Given the description of an element on the screen output the (x, y) to click on. 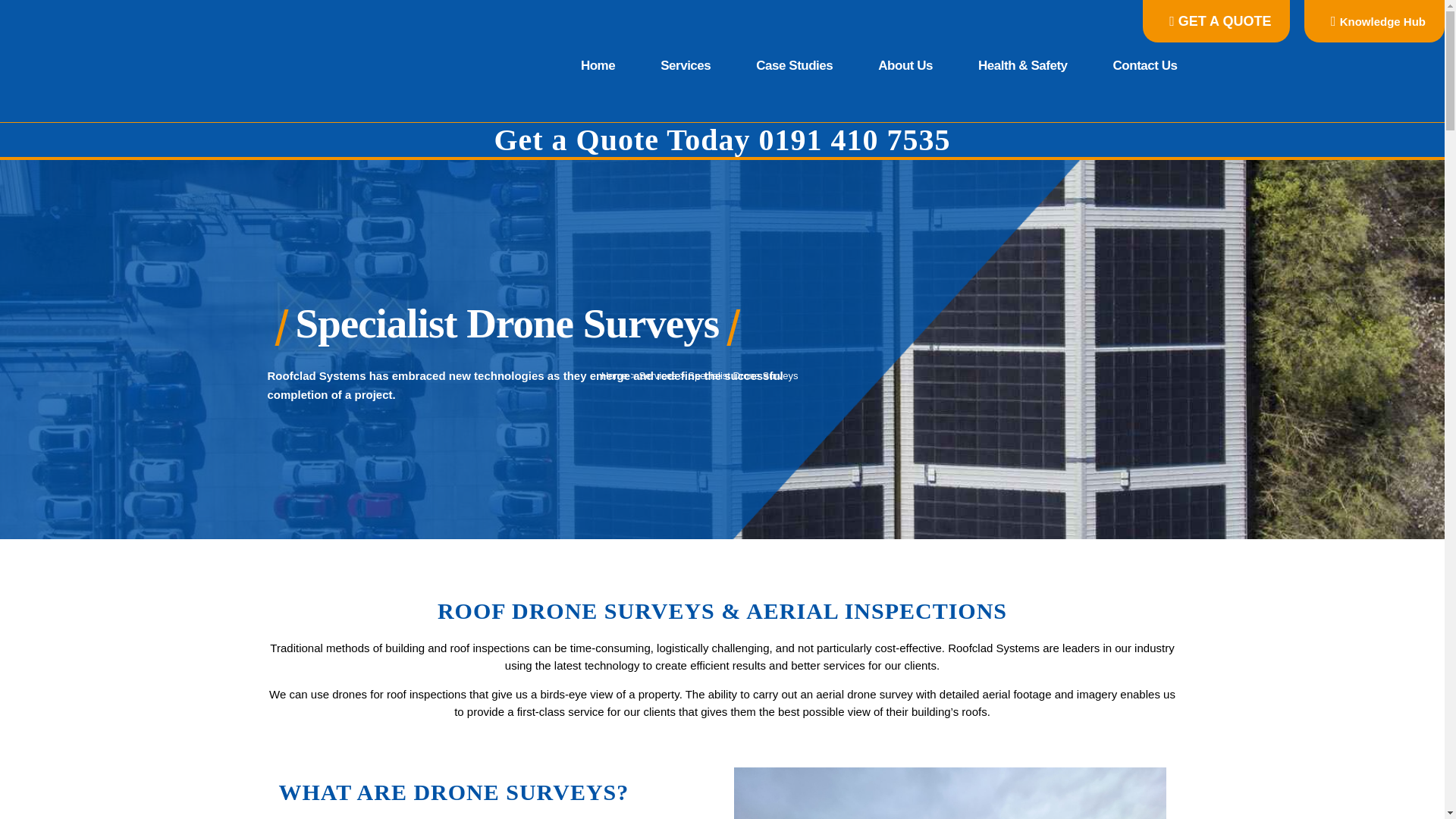
About Us (905, 66)
GET A QUOTE (1216, 21)
Contact Us (1133, 66)
Home (597, 66)
Services (685, 66)
Case Studies (794, 66)
